Given the description of an element on the screen output the (x, y) to click on. 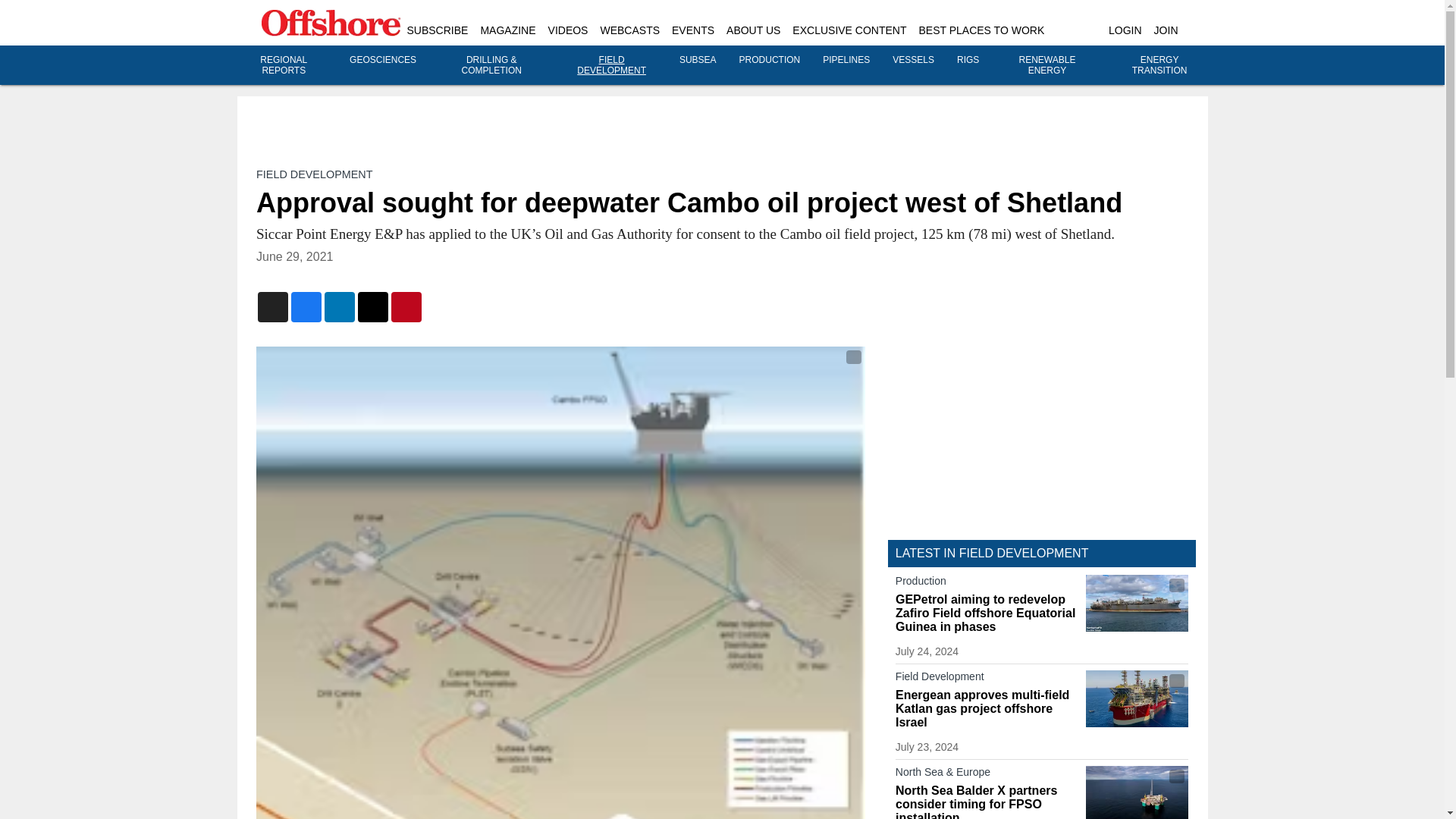
REGIONAL REPORTS (283, 65)
SUBSCRIBE (436, 30)
RIGS (967, 59)
JOIN (1165, 30)
PRODUCTION (769, 59)
ABOUT US (753, 30)
RENEWABLE ENERGY (1047, 65)
EVENTS (692, 30)
SUBSEA (697, 59)
FIELD DEVELOPMENT (611, 65)
VIDEOS (568, 30)
PIPELINES (845, 59)
WEBCASTS (629, 30)
EXCLUSIVE CONTENT (848, 30)
GEOSCIENCES (382, 59)
